Given the description of an element on the screen output the (x, y) to click on. 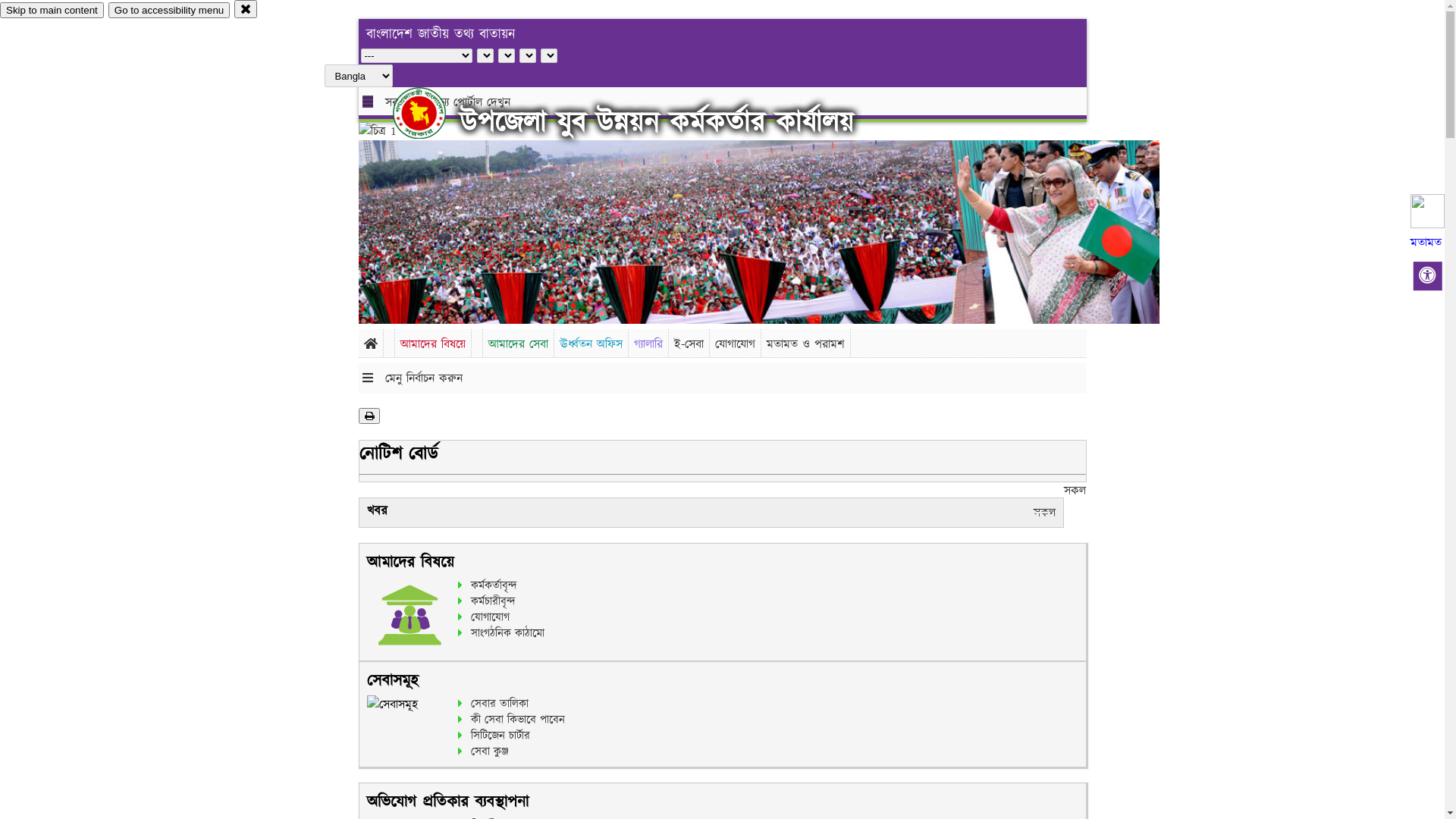
Go to accessibility menu Element type: text (168, 10)

                
             Element type: hover (431, 112)
Skip to main content Element type: text (51, 10)
close Element type: hover (245, 9)
